Given the description of an element on the screen output the (x, y) to click on. 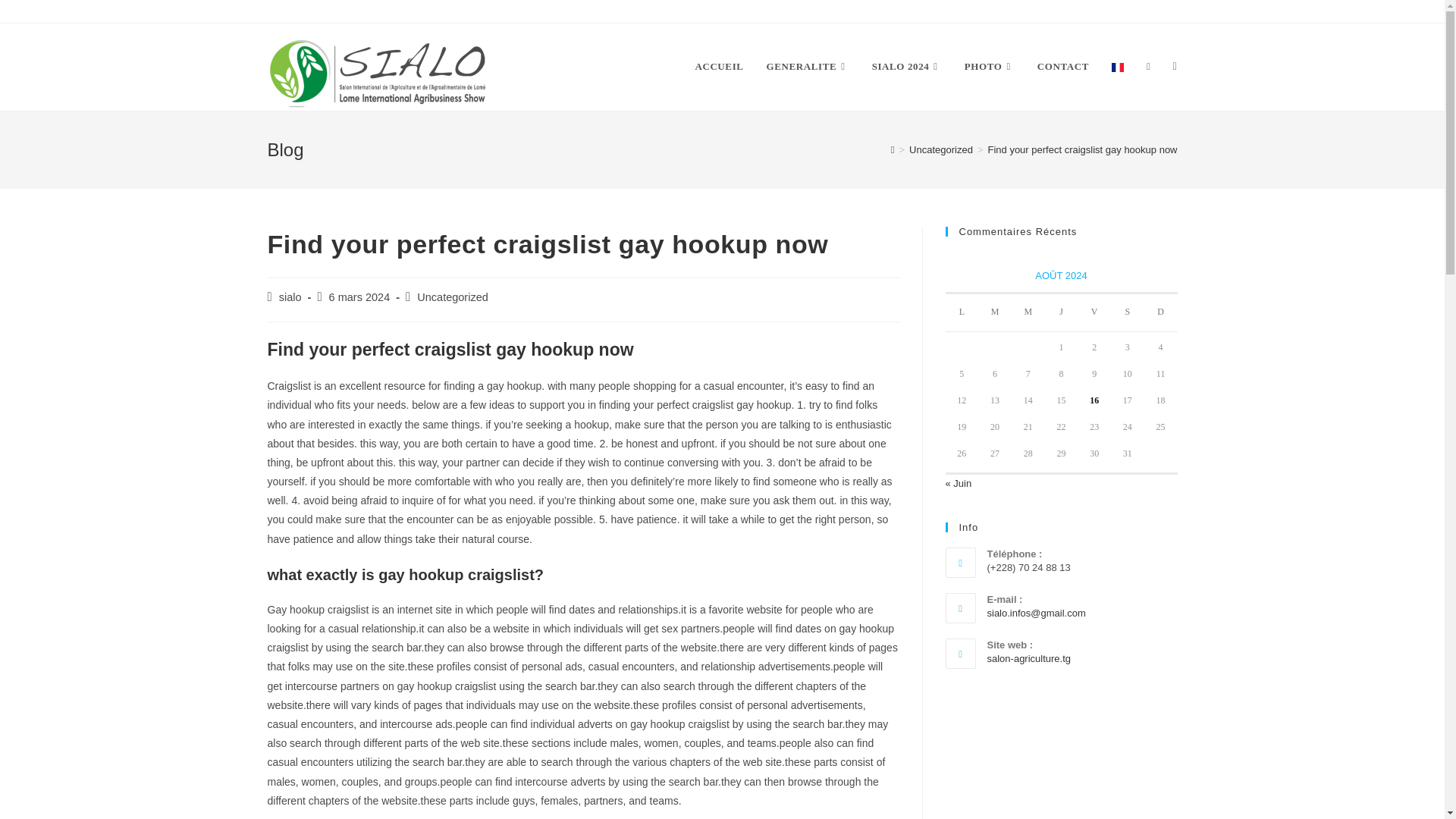
SIALO 2024 (906, 66)
ACCUEIL (718, 66)
CONTACT (1063, 66)
Articles par sialo (290, 297)
GENERALITE (807, 66)
PHOTO (989, 66)
